Given the description of an element on the screen output the (x, y) to click on. 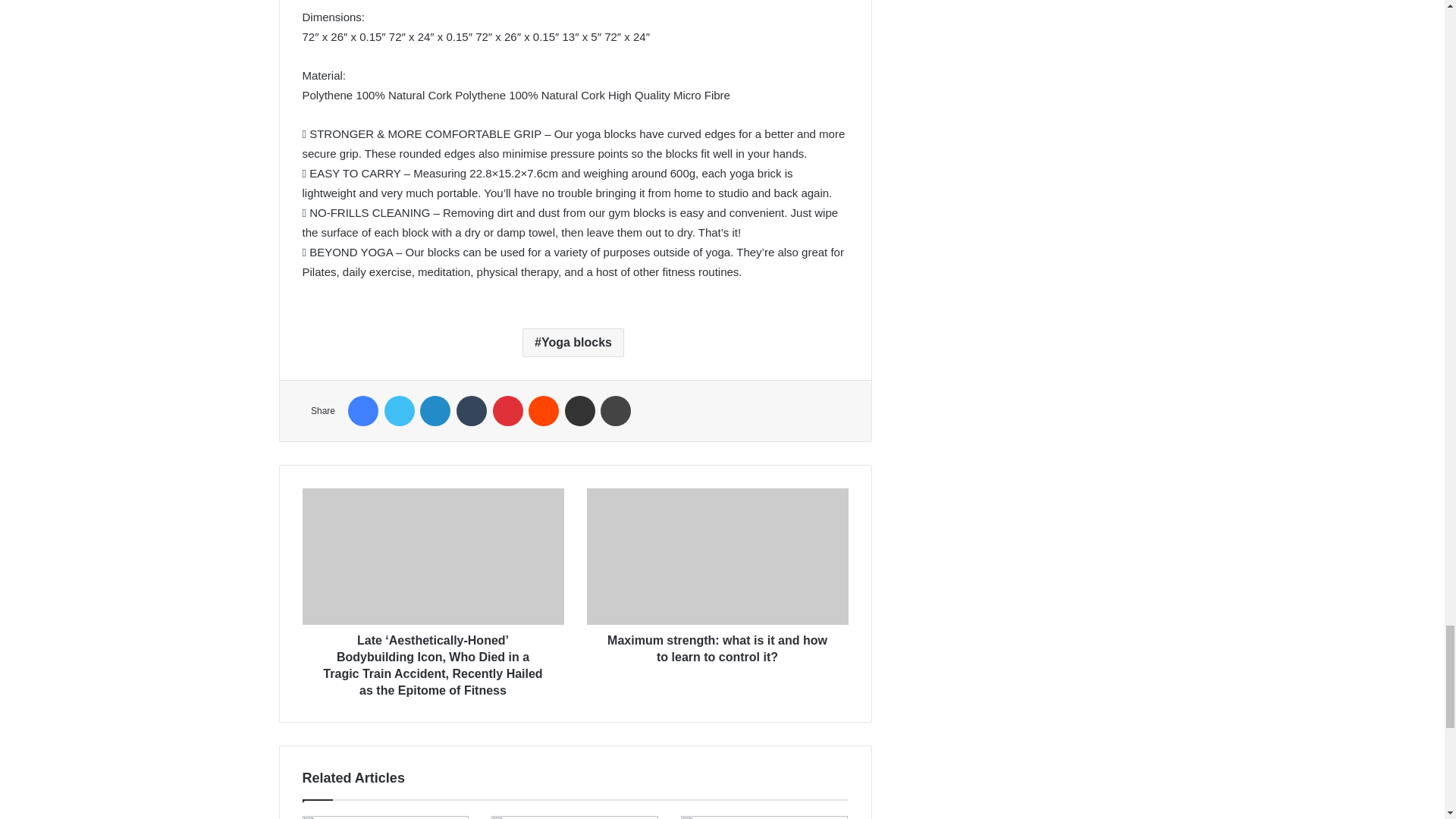
Yoga blocks (573, 342)
